Given the description of an element on the screen output the (x, y) to click on. 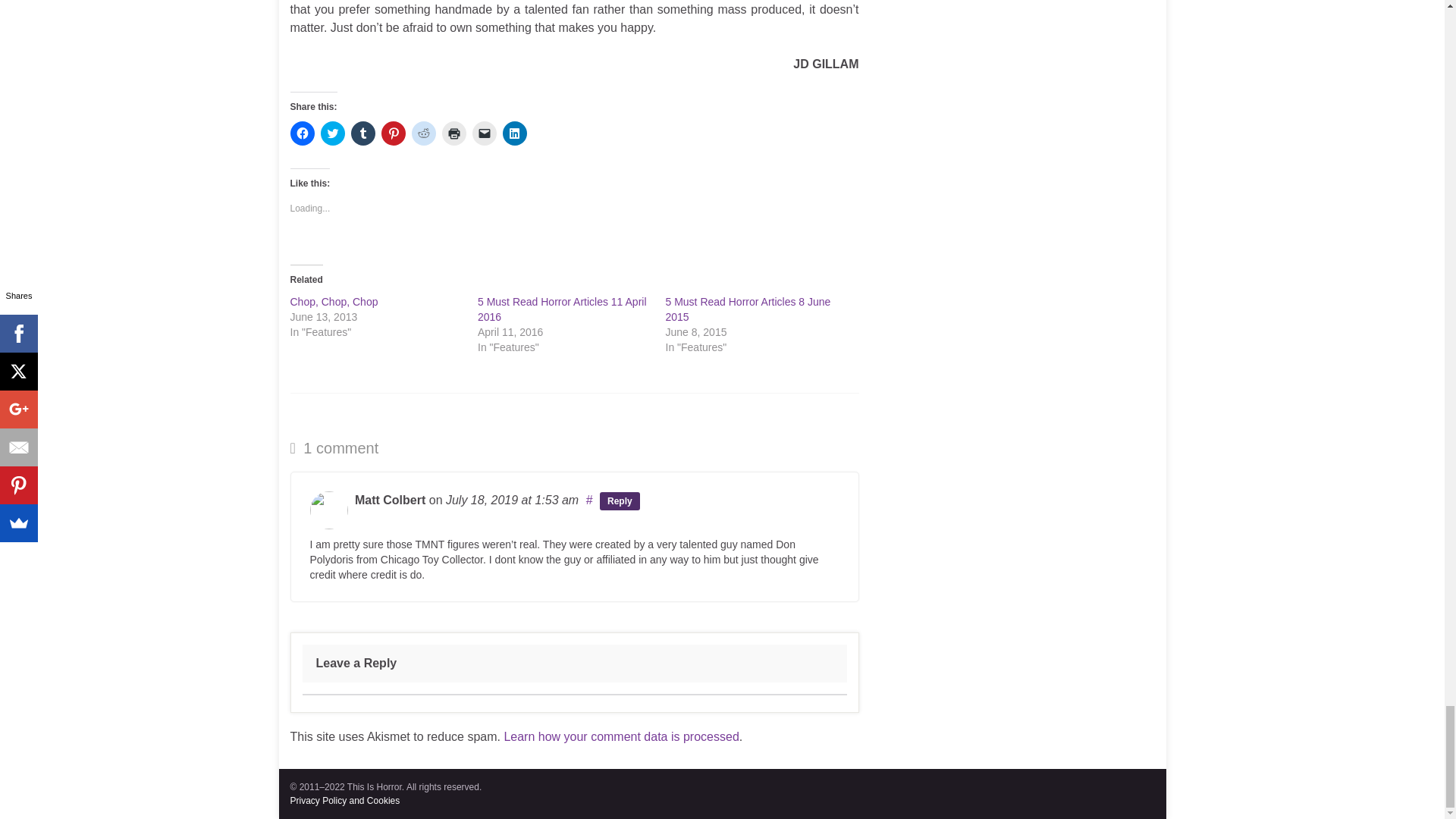
Learn how your comment data is processed (620, 736)
Click to share on Reddit (422, 133)
Chop, Chop, Chop (333, 301)
5 Must Read Horror Articles 11 April 2016 (561, 308)
Click to share on Facebook (301, 133)
Click to share on Tumblr (362, 133)
Click to share on Pinterest (392, 133)
Click to share on Twitter (331, 133)
5 Must Read Horror Articles 11 April 2016 (561, 308)
Click to share on LinkedIn (513, 133)
Click to email a link to a friend (483, 133)
Reply (619, 501)
5 Must Read Horror Articles 8 June 2015 (748, 308)
Chop, Chop, Chop (333, 301)
Click to print (453, 133)
